Given the description of an element on the screen output the (x, y) to click on. 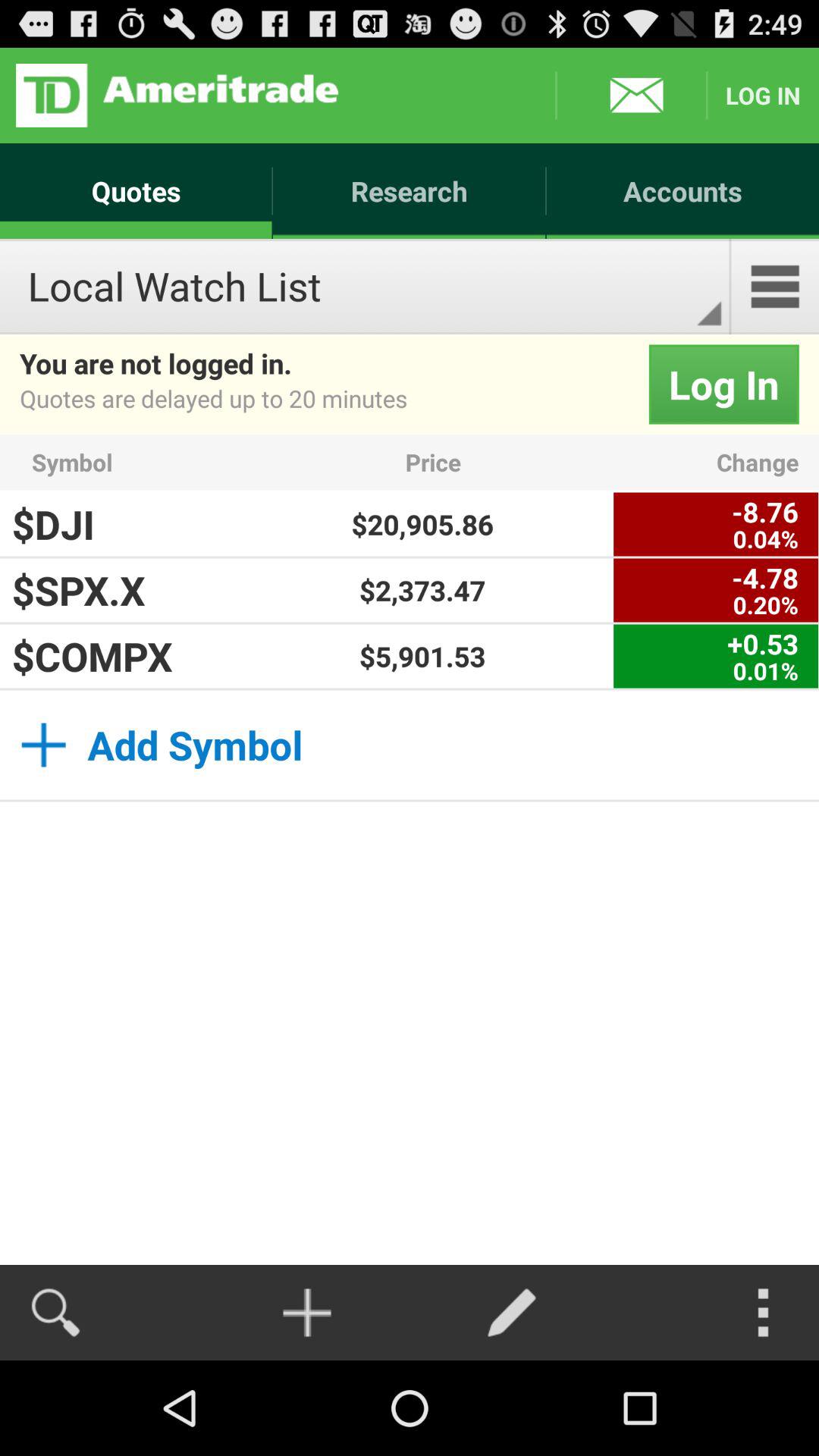
open mail (631, 95)
